Given the description of an element on the screen output the (x, y) to click on. 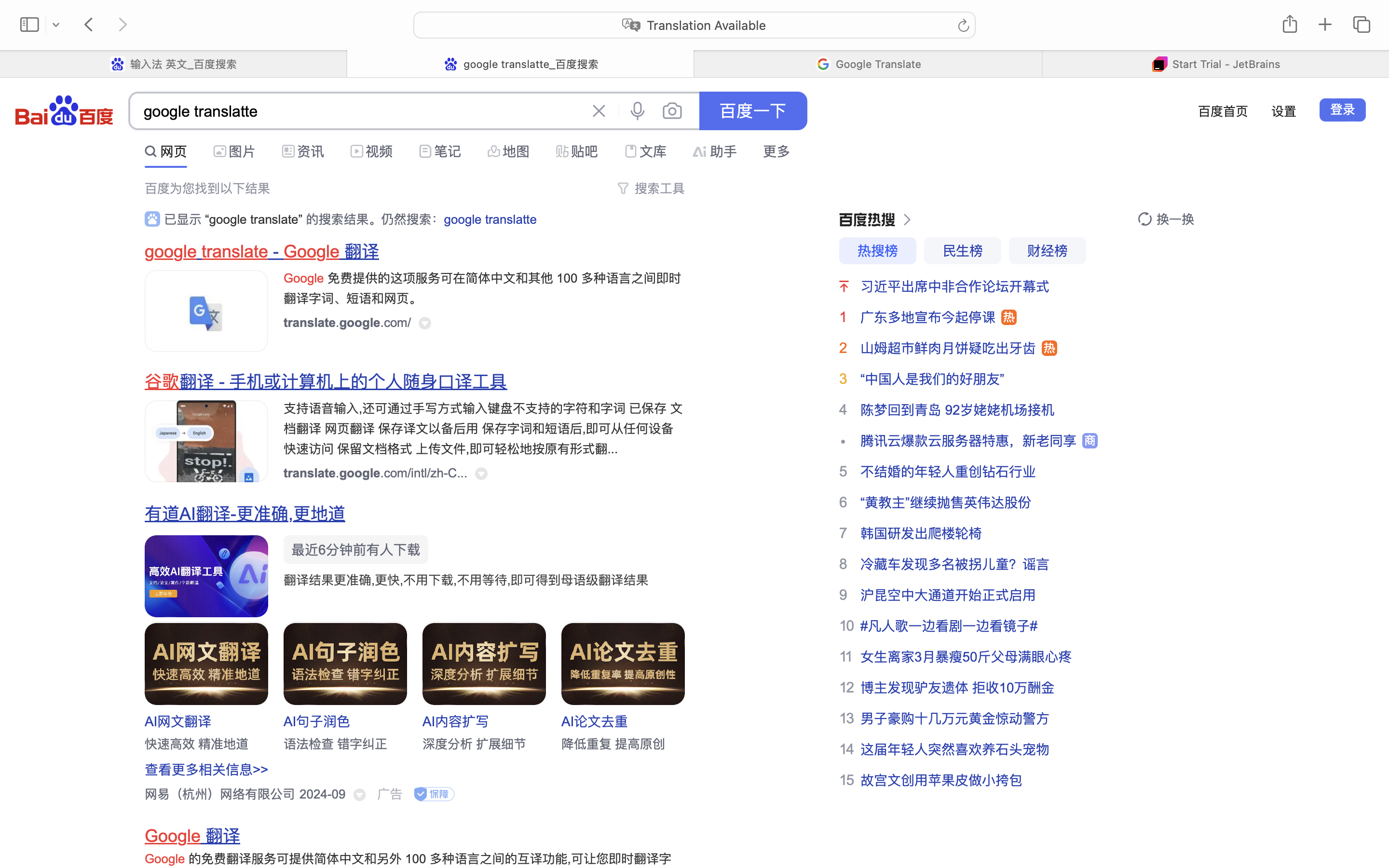
站点内检索 Element type: AXStaticText (398, 148)
腾讯云爆款云服务器特惠，新老同享 Element type: AXStaticText (968, 440)
google translatte Element type: AXTextField (357, 111)
11 Element type: AXStaticText (845, 656)
快速高效 精准地道 Element type: AXStaticText (196, 743)
